Given the description of an element on the screen output the (x, y) to click on. 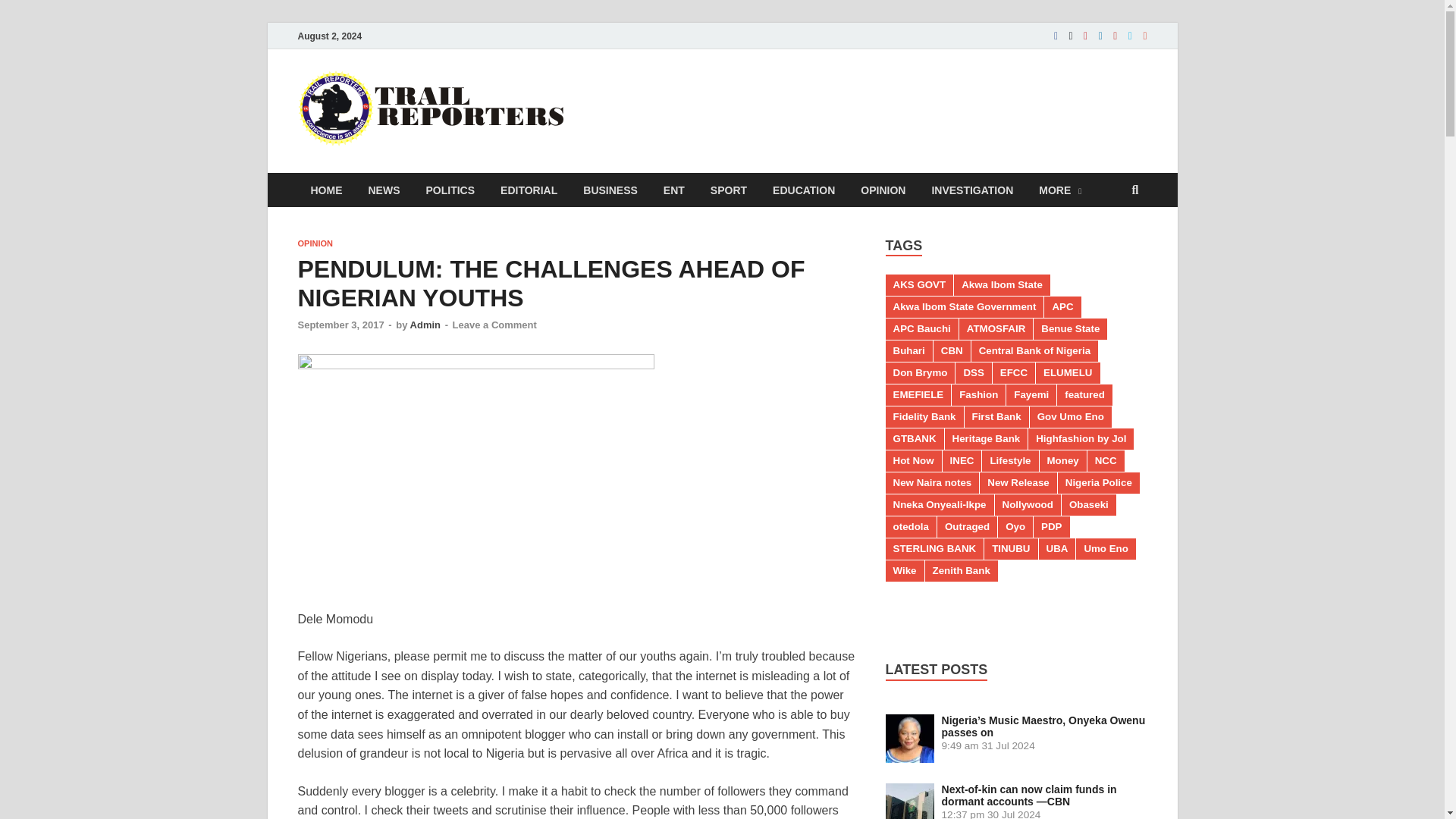
POLITICS (449, 189)
Admin (425, 324)
EDITORIAL (528, 189)
HOME (326, 189)
Trail Reporters (671, 100)
EDUCATION (803, 189)
SPORT (728, 189)
MORE (1060, 189)
OPINION (314, 243)
NEWS (383, 189)
INVESTIGATION (972, 189)
OPINION (882, 189)
ENT (673, 189)
BUSINESS (610, 189)
Leave a Comment (494, 324)
